Given the description of an element on the screen output the (x, y) to click on. 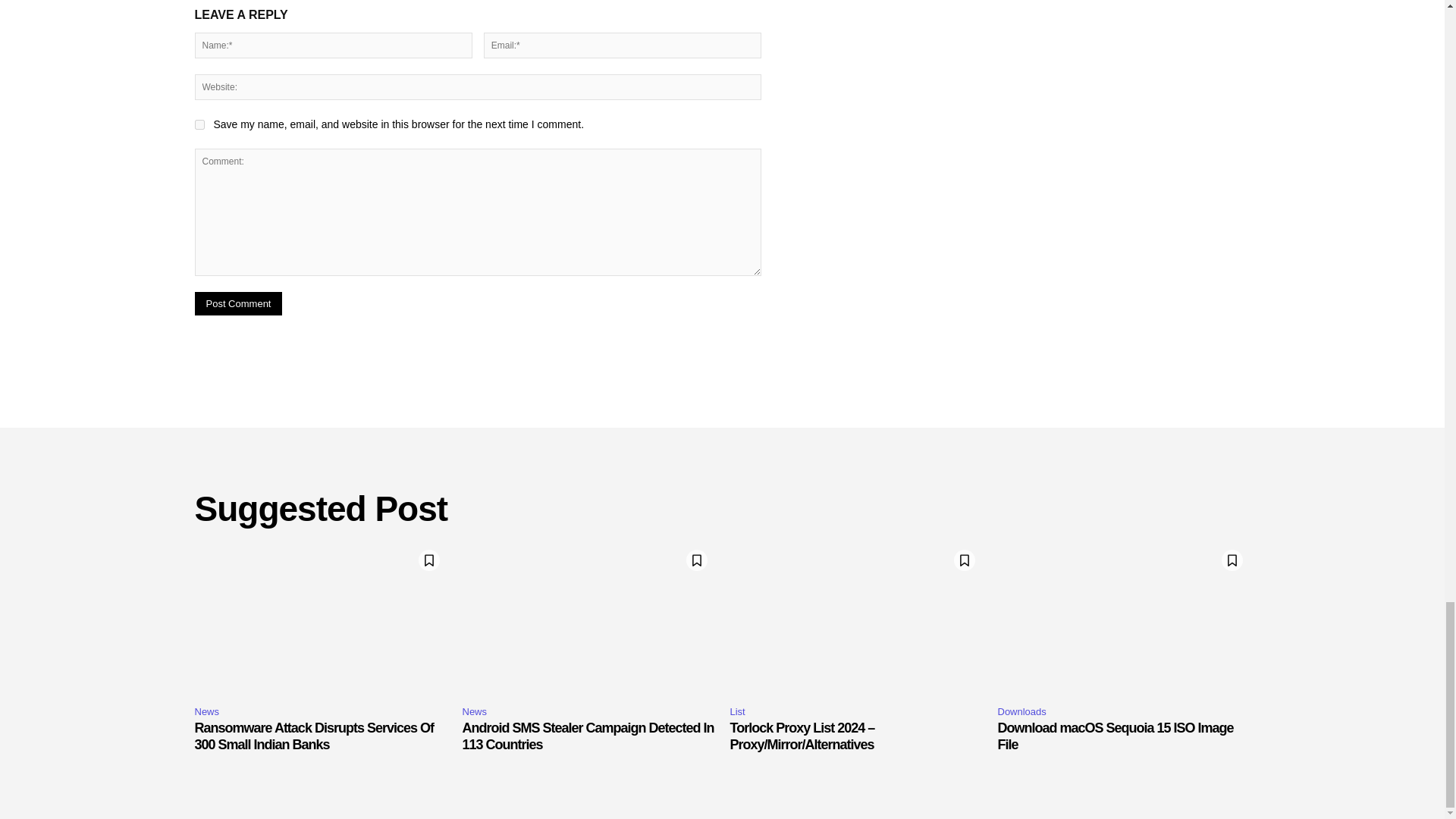
Post Comment (237, 303)
yes (198, 124)
Post Comment (237, 303)
